Given the description of an element on the screen output the (x, y) to click on. 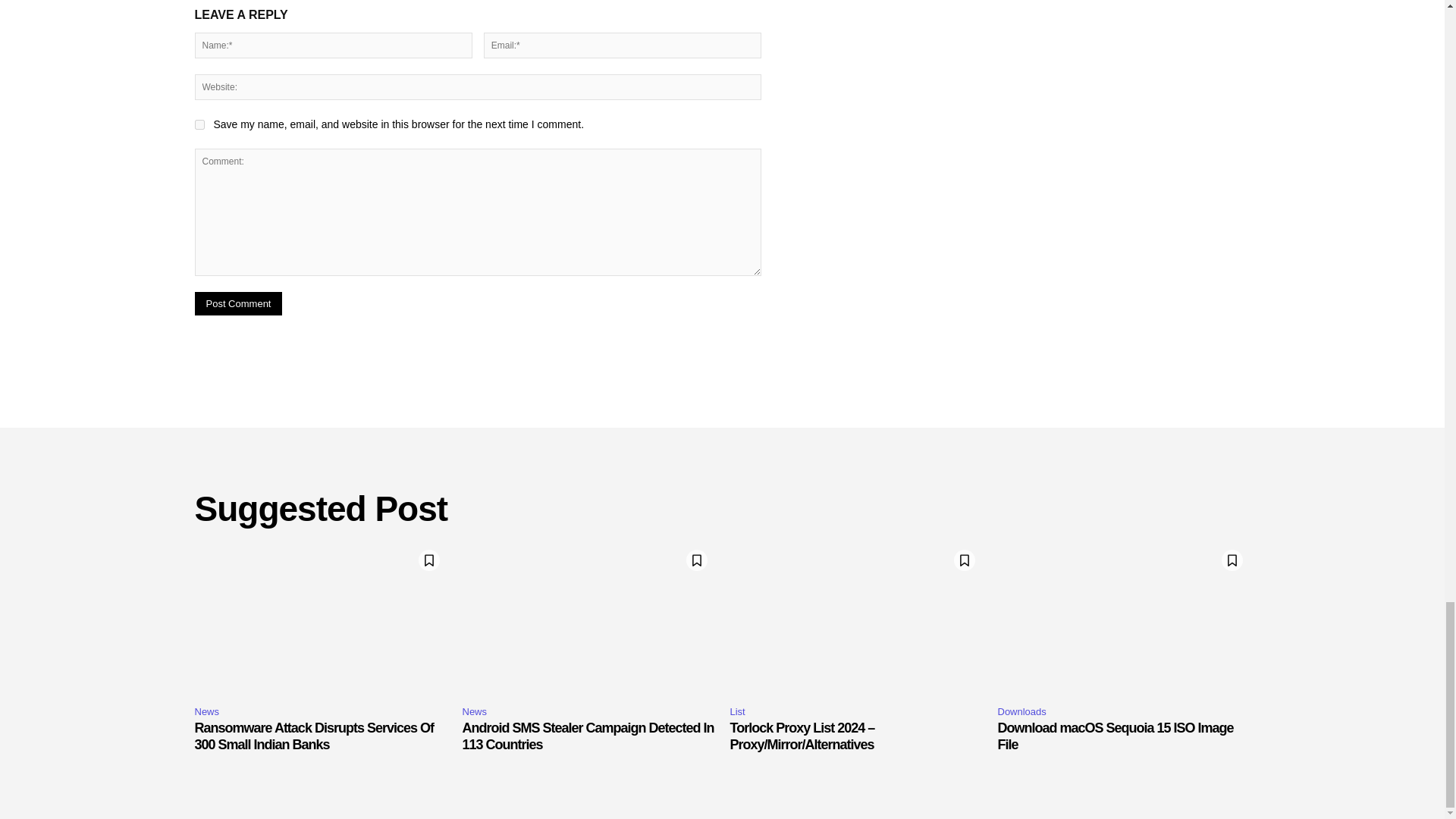
Post Comment (237, 303)
yes (198, 124)
Post Comment (237, 303)
